Given the description of an element on the screen output the (x, y) to click on. 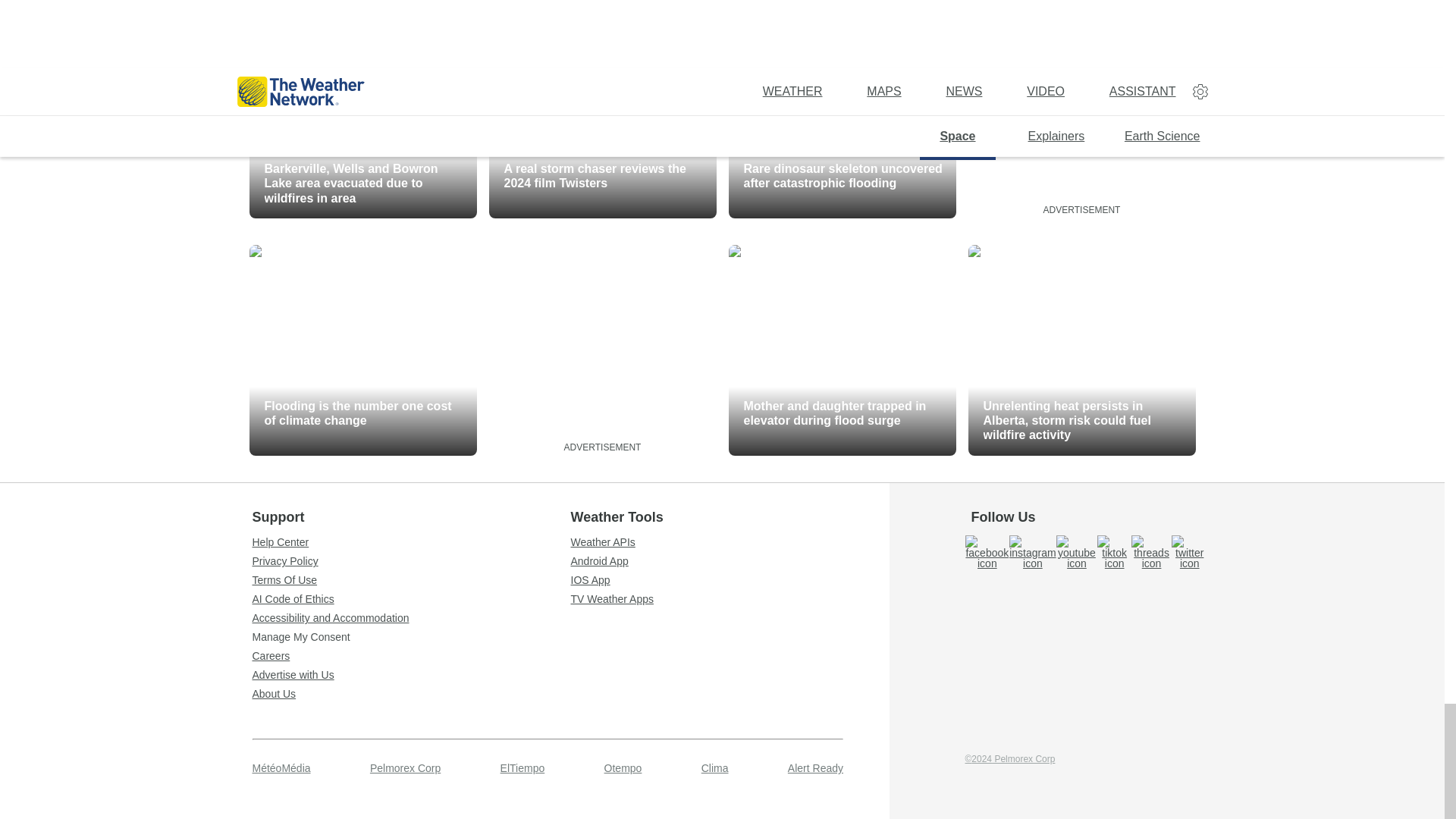
Flooding is the number one cost of climate change (362, 349)
Terms Of Use (410, 579)
Careers (410, 655)
Help Center (410, 542)
About Us (410, 693)
Advertise with Us (410, 674)
Manage My Consent (410, 636)
AI Code of Ethics (410, 598)
Android App (729, 561)
Rare dinosaur skeleton uncovered after catastrophic flooding (841, 112)
A real storm chaser reviews the 2024 film Twisters (601, 112)
IOS App (729, 579)
Mother and daughter trapped in elevator during flood surge (841, 349)
